Given the description of an element on the screen output the (x, y) to click on. 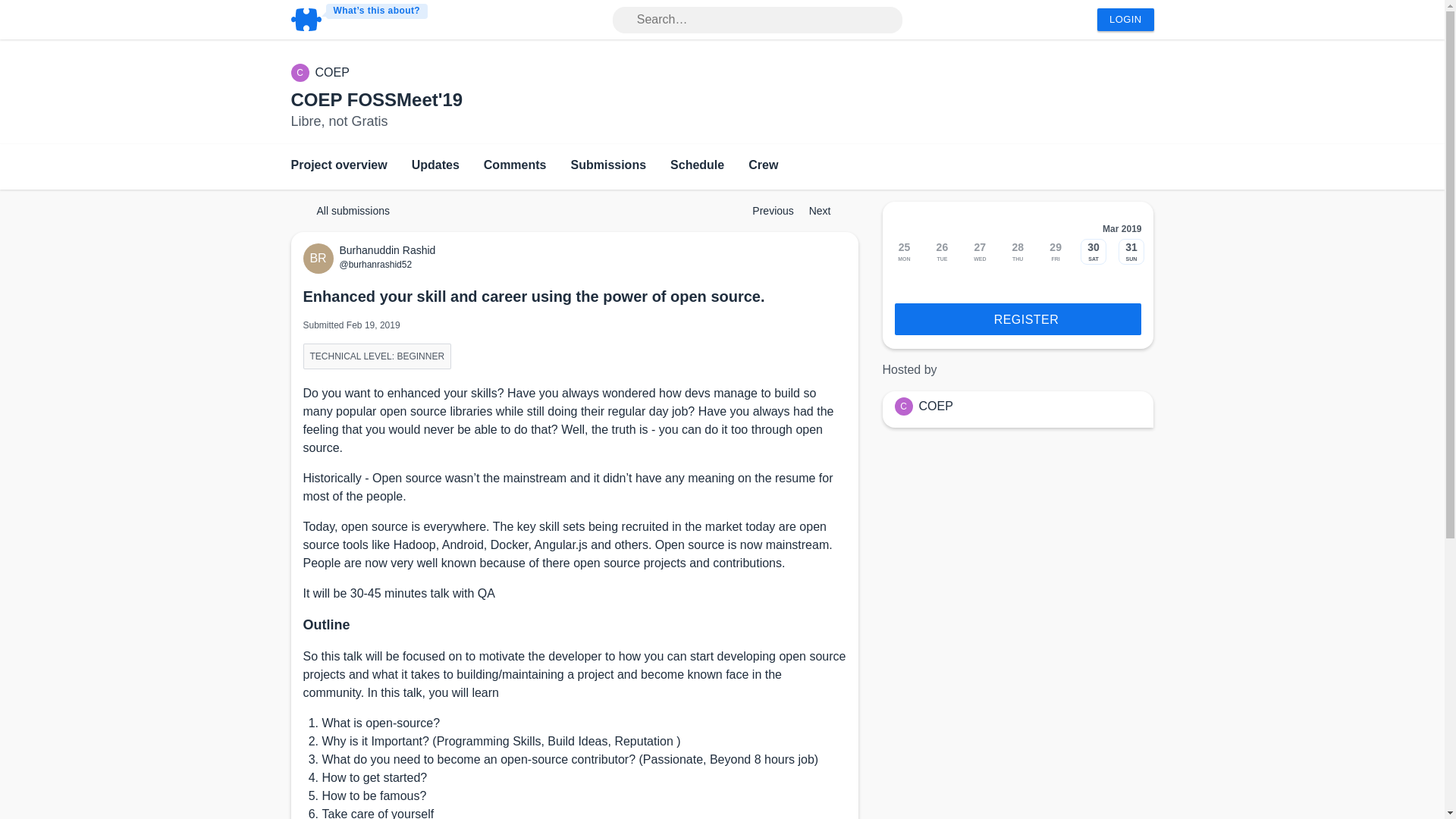
All submissions (346, 211)
Submissions (608, 166)
Outline (326, 624)
COEP (332, 72)
Project overview (339, 166)
Schedule (696, 166)
Previous (766, 210)
Next (827, 210)
COEP FOSSMeet'19 (377, 99)
C (303, 72)
Updates (436, 166)
Comments (515, 166)
LOGIN (1125, 19)
BR (320, 258)
